Given the description of an element on the screen output the (x, y) to click on. 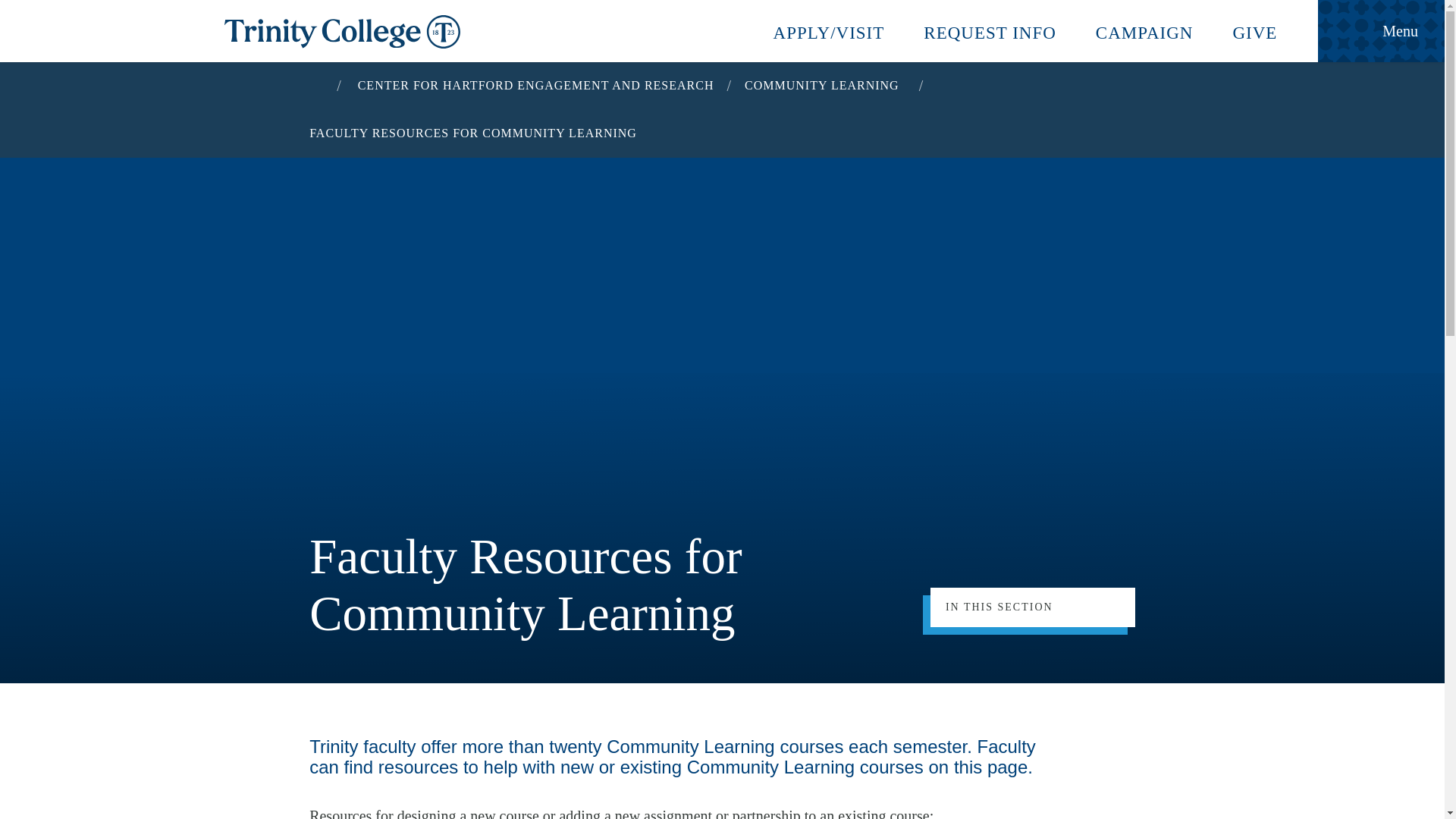
CENTER FOR HARTFORD ENGAGEMENT AND RESEARCH (536, 85)
HOME (315, 83)
Trinity College (722, 31)
CAMPAIGN (1144, 30)
FACULTY RESOURCES FOR COMMUNITY LEARNING (475, 133)
GIVE (1254, 30)
REQUEST INFO (989, 30)
IN THIS SECTION (1032, 607)
COMMUNITY LEARNING (824, 85)
